Given the description of an element on the screen output the (x, y) to click on. 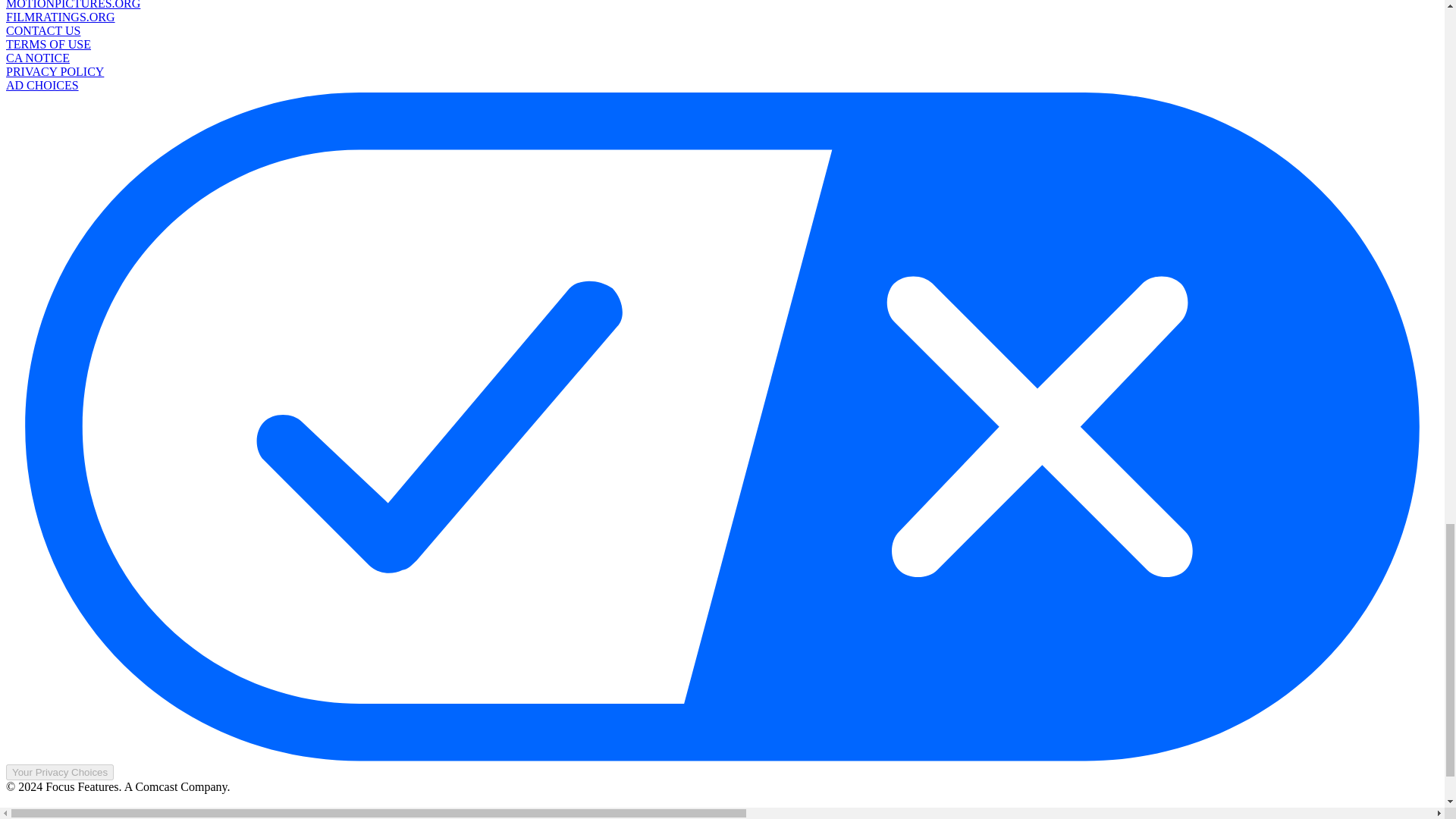
MOTIONPICTURES.ORG (72, 4)
Your Privacy Choices (59, 772)
CONTACT US (42, 30)
PRIVACY POLICY (54, 71)
TERMS OF USE (47, 43)
FILMRATINGS.ORG (60, 16)
CA NOTICE (37, 57)
AD CHOICES (41, 84)
